Given the description of an element on the screen output the (x, y) to click on. 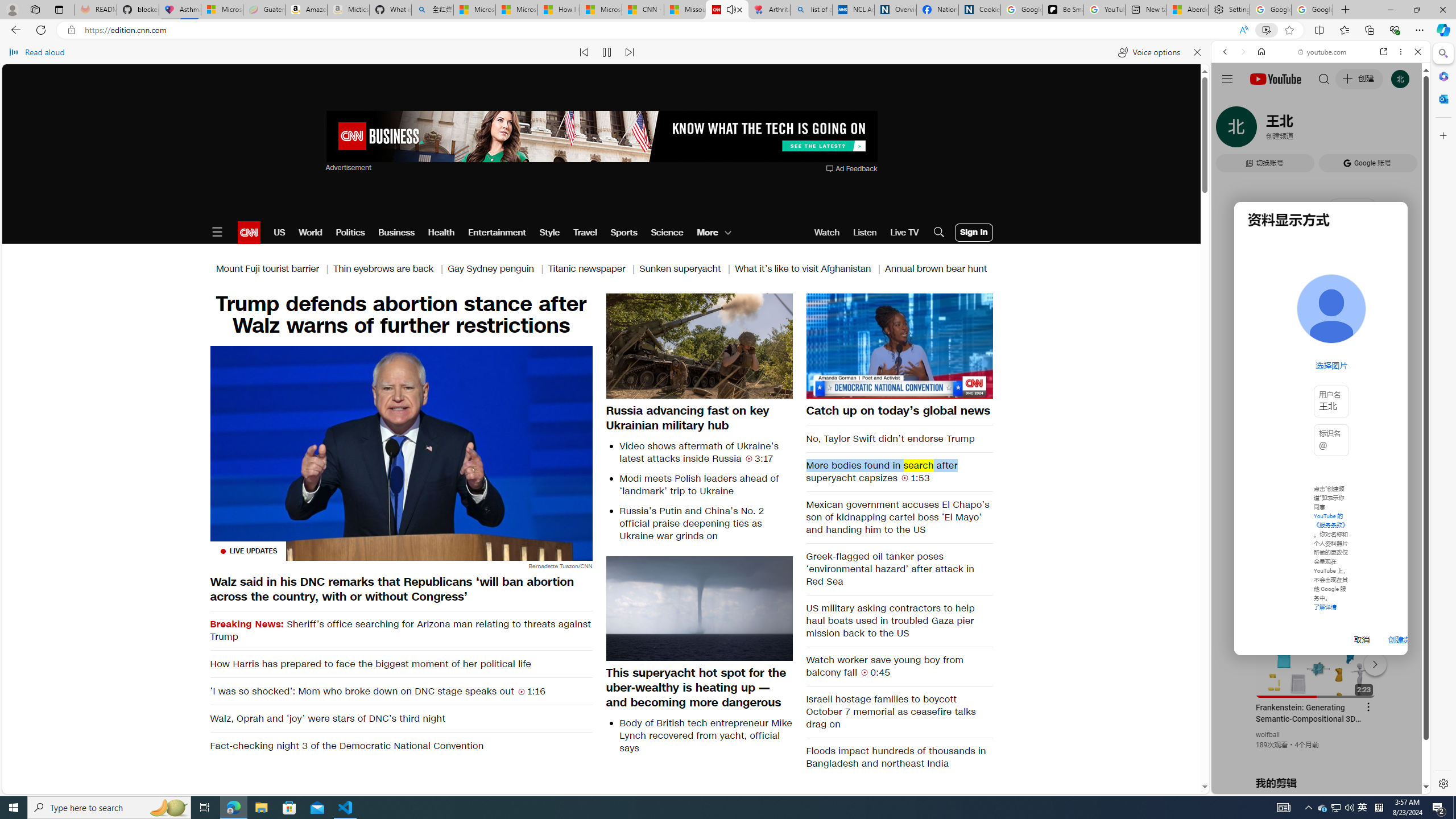
Forward 10 seconds (933, 344)
Options (952, 389)
Titanic newspaper | (593, 268)
